Given the description of an element on the screen output the (x, y) to click on. 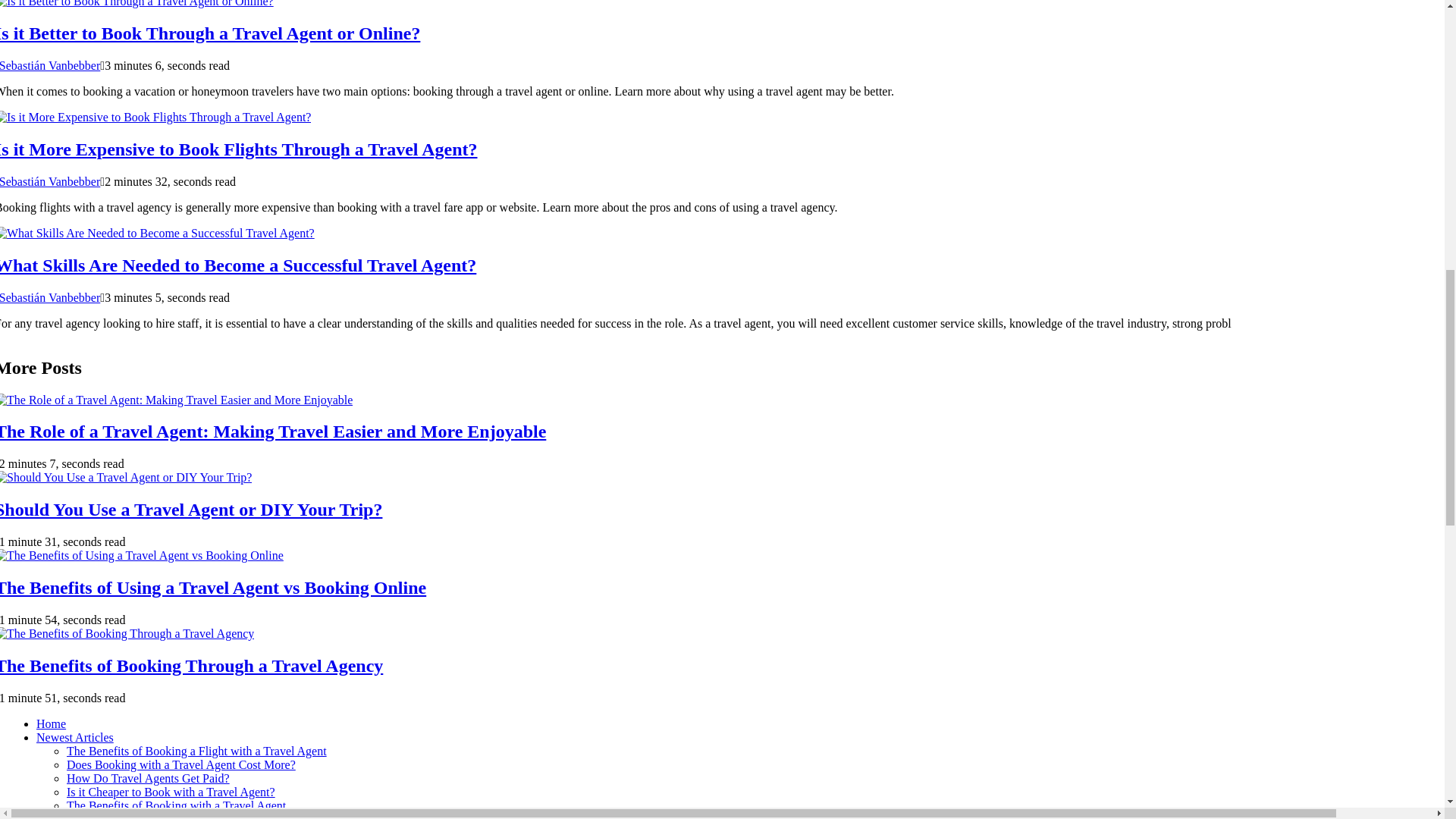
Is it More Expensive to Book Flights Through a Travel Agent? (238, 148)
What Skills Are Needed to Become a Successful Travel Agent? (238, 265)
Is it Better to Book Through a Travel Agent or Online? (210, 33)
